Given the description of an element on the screen output the (x, y) to click on. 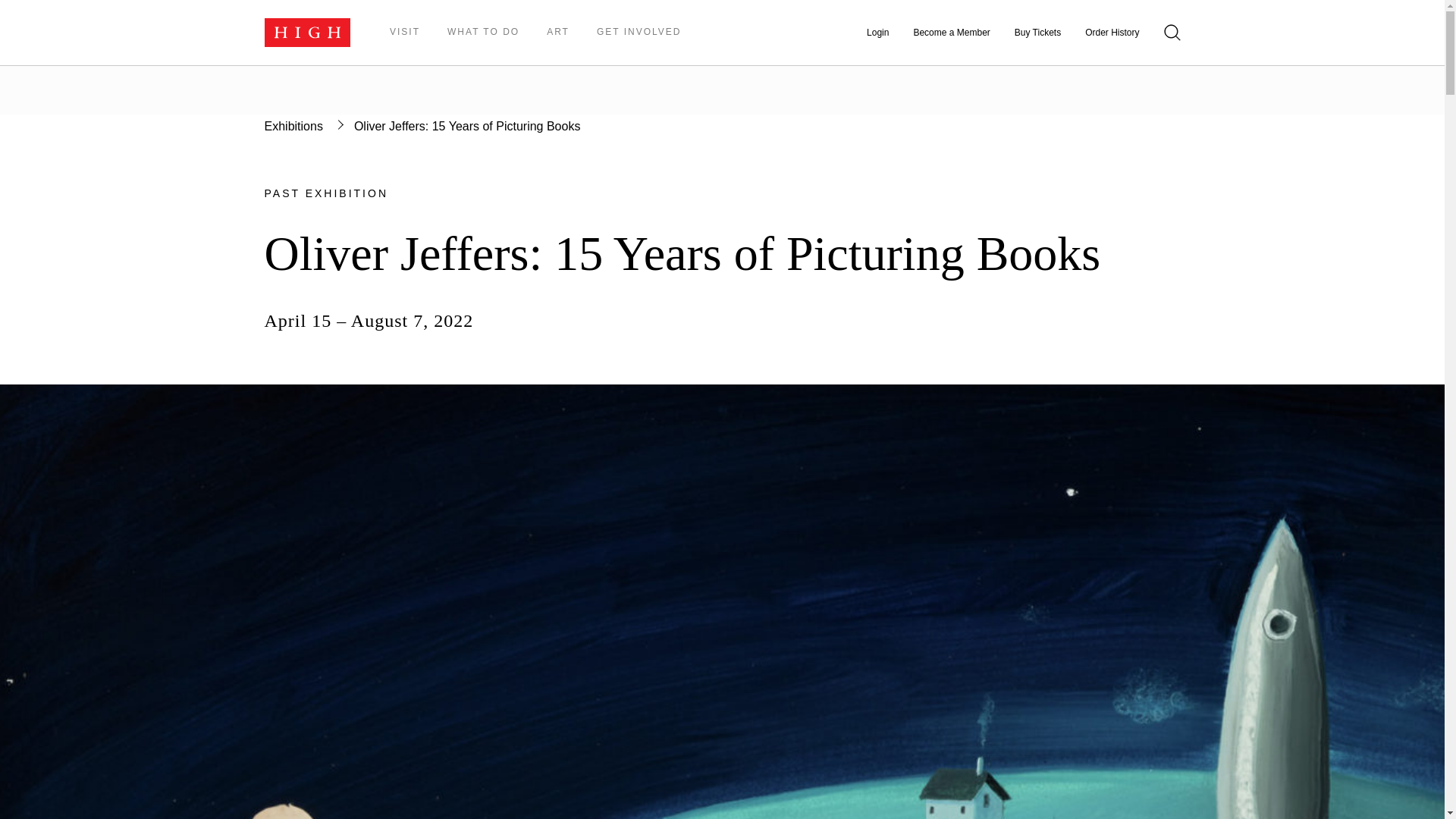
WHAT TO DO (482, 31)
High Logo (306, 32)
